Given the description of an element on the screen output the (x, y) to click on. 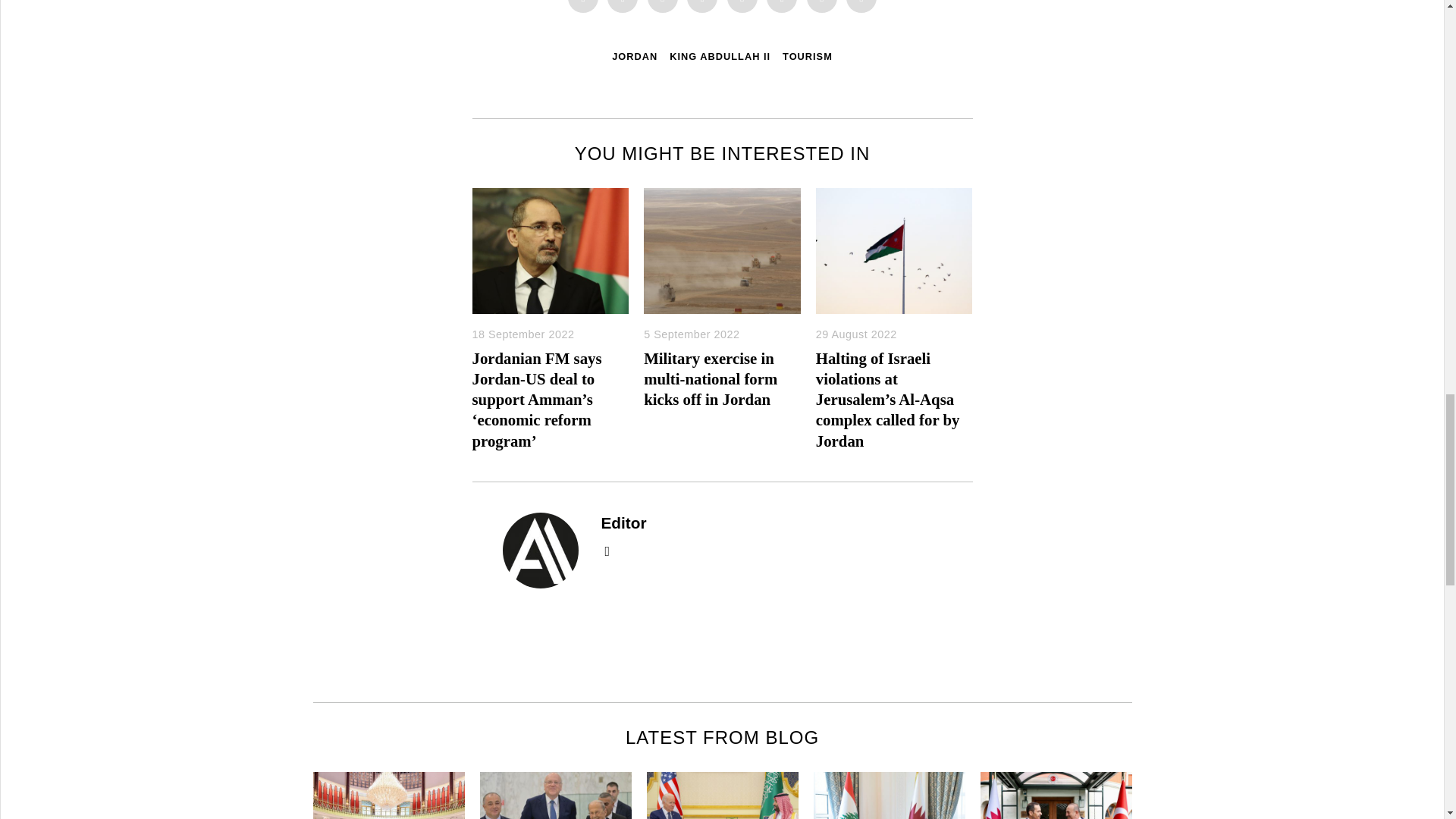
TOURISM (807, 56)
KING ABDULLAH II (719, 56)
Military exercise in multi-national form kicks off in Jordan (710, 378)
Editor (622, 522)
JORDAN (634, 56)
